Given the description of an element on the screen output the (x, y) to click on. 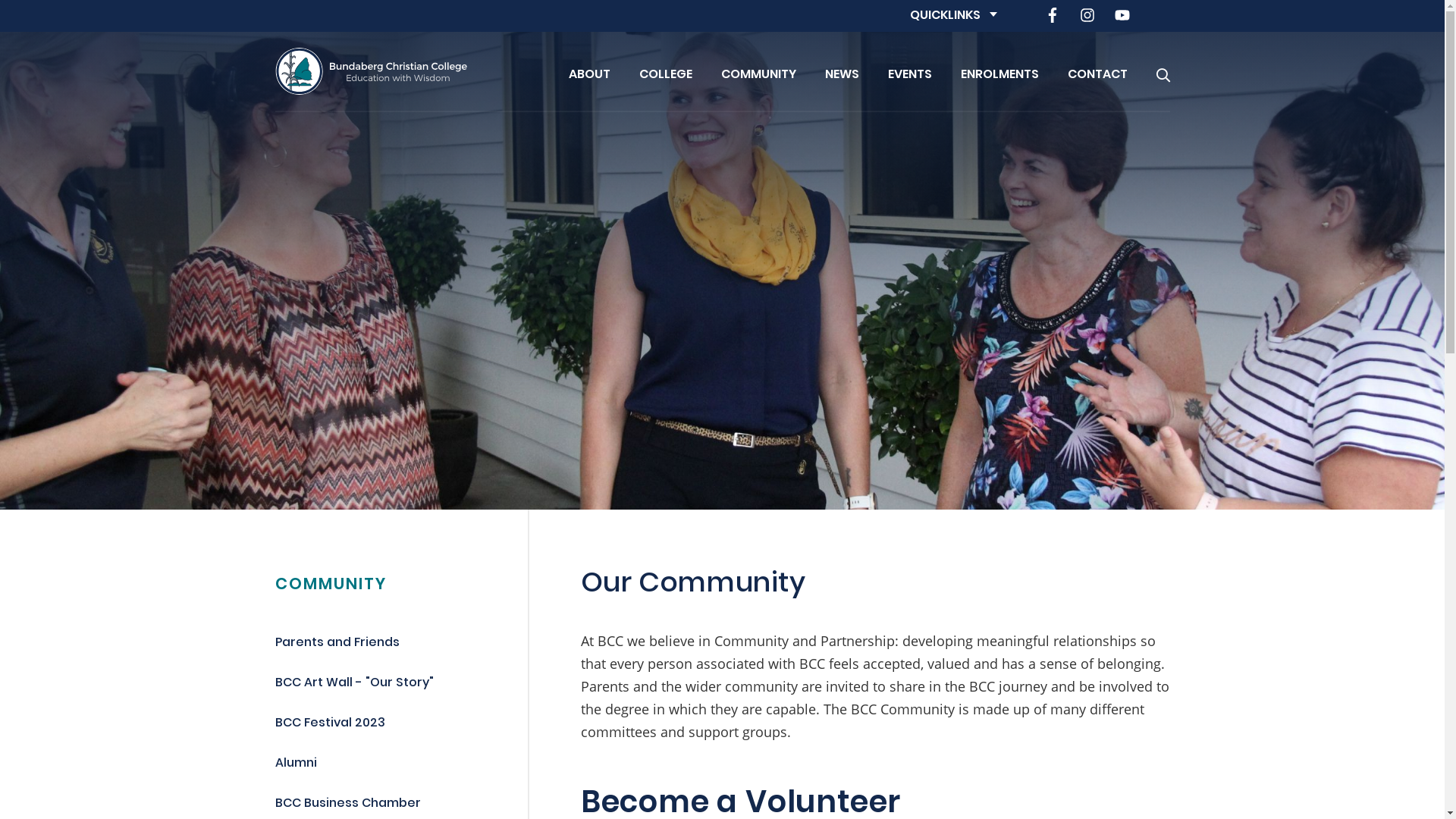
BCC Festival 2023 Element type: text (329, 723)
COMMUNITY Element type: text (757, 70)
BCC Art Wall - "Our Story" Element type: text (353, 683)
COLLEGE Element type: text (664, 70)
Back to Homepage Element type: hover (370, 71)
ABOUT Element type: text (589, 70)
CONTACT Element type: text (1097, 70)
Parents and Friends Element type: text (336, 643)
EVENTS Element type: text (909, 70)
Search the website Element type: hover (1162, 70)
NEWS Element type: text (842, 70)
ENROLMENTS Element type: text (999, 70)
Alumni Element type: text (295, 763)
COMMUNITY Element type: text (329, 584)
BCC Business Chamber Element type: text (347, 804)
